Given the description of an element on the screen output the (x, y) to click on. 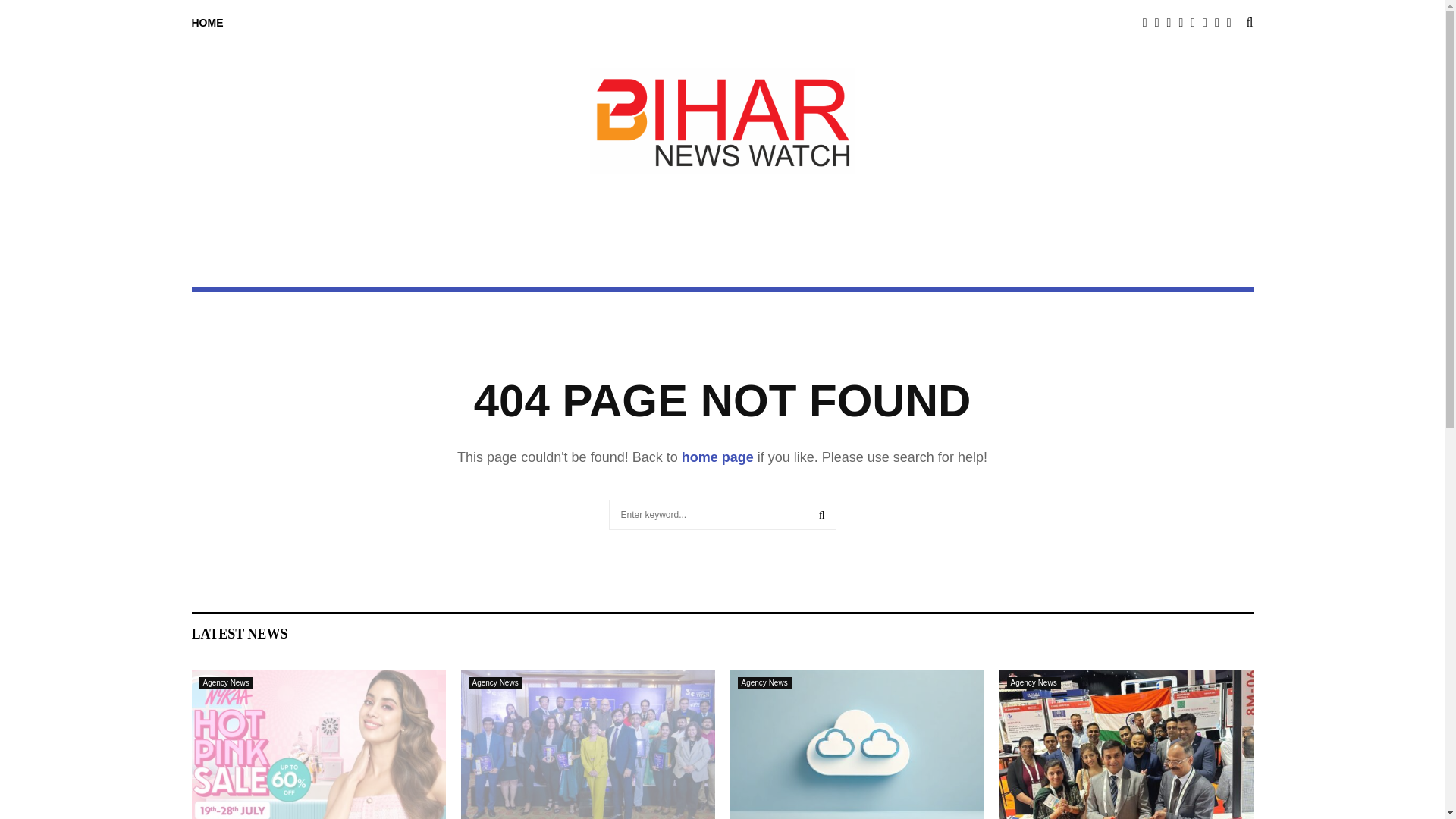
Instagram (1173, 22)
Behance (1196, 22)
LATEST NEWS (238, 633)
View all posts in Agency News (495, 683)
Twitter (1160, 22)
Agency News (1034, 683)
Pinterest (1184, 22)
Email (1233, 22)
SEARCH (821, 514)
View all posts in Agency News (763, 683)
HOME (206, 22)
Agency News (495, 683)
View all posts in Agency News (224, 683)
